Given the description of an element on the screen output the (x, y) to click on. 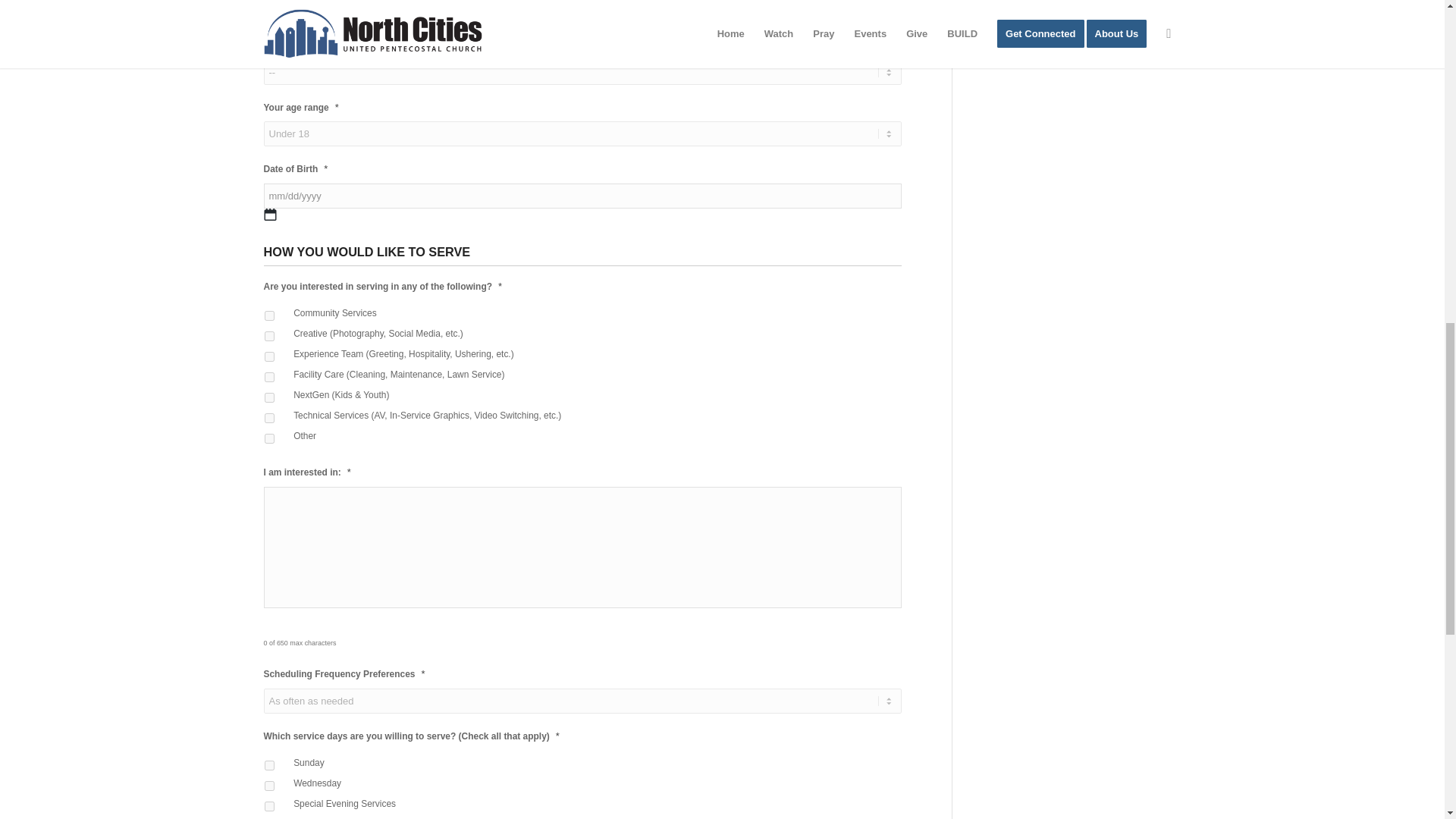
Community Services (268, 316)
Wednesday (268, 786)
Select date (269, 214)
Sunday (268, 765)
Other (268, 438)
Special Evening Services (268, 806)
